Given the description of an element on the screen output the (x, y) to click on. 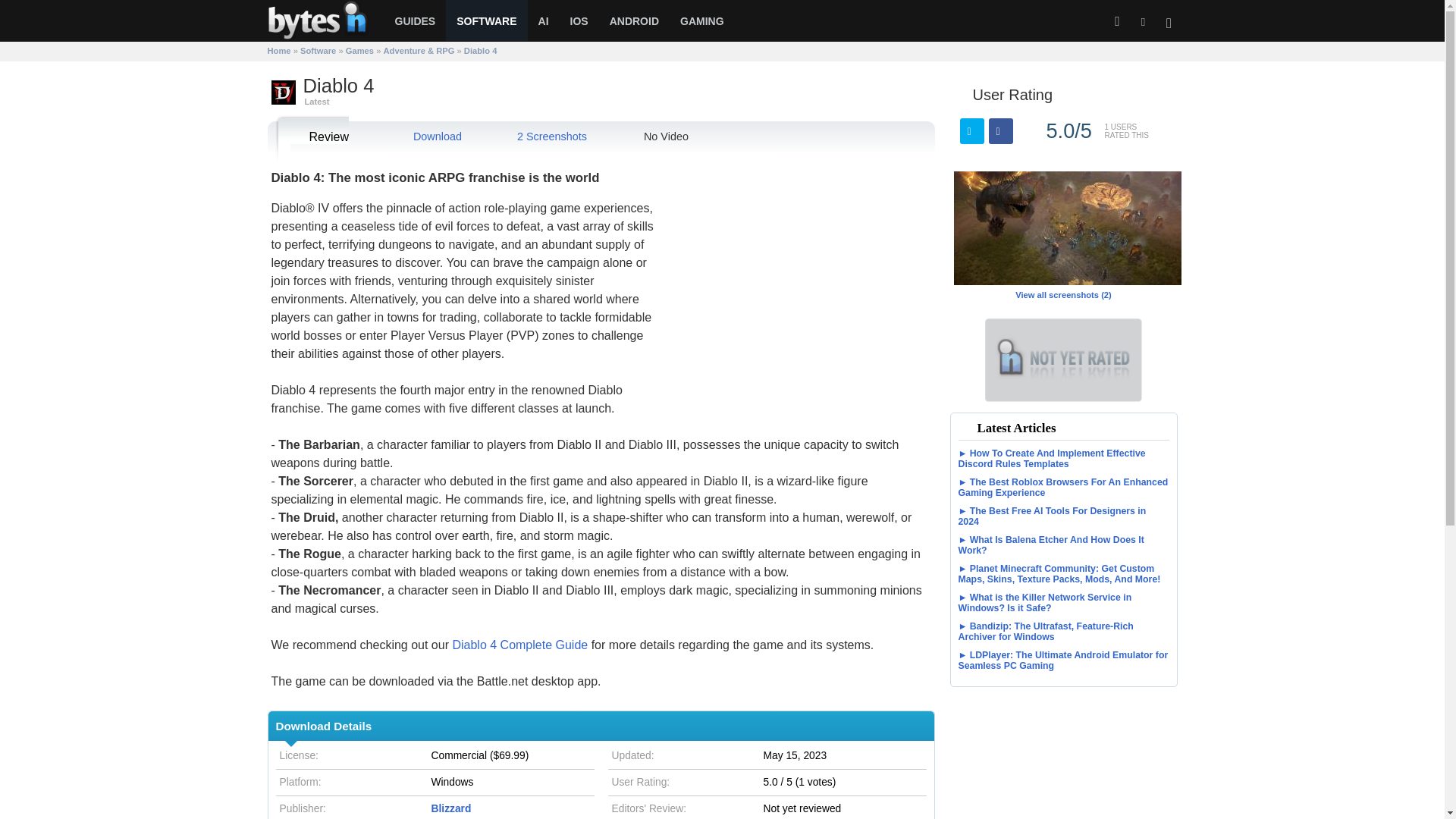
Bad... (1073, 94)
The Best Free AI Tools For Designers in 2024 (1063, 516)
GUIDES (414, 20)
IOS (578, 20)
Medium (1112, 94)
Blizzard (450, 808)
Diablo 4 Complete Guide (519, 644)
Games (360, 50)
BytesIn (325, 36)
Poor (1093, 94)
Download (427, 136)
Advertisement (798, 274)
Follow us on Twitter (1142, 21)
Software (317, 50)
Excellent (1151, 94)
